Given the description of an element on the screen output the (x, y) to click on. 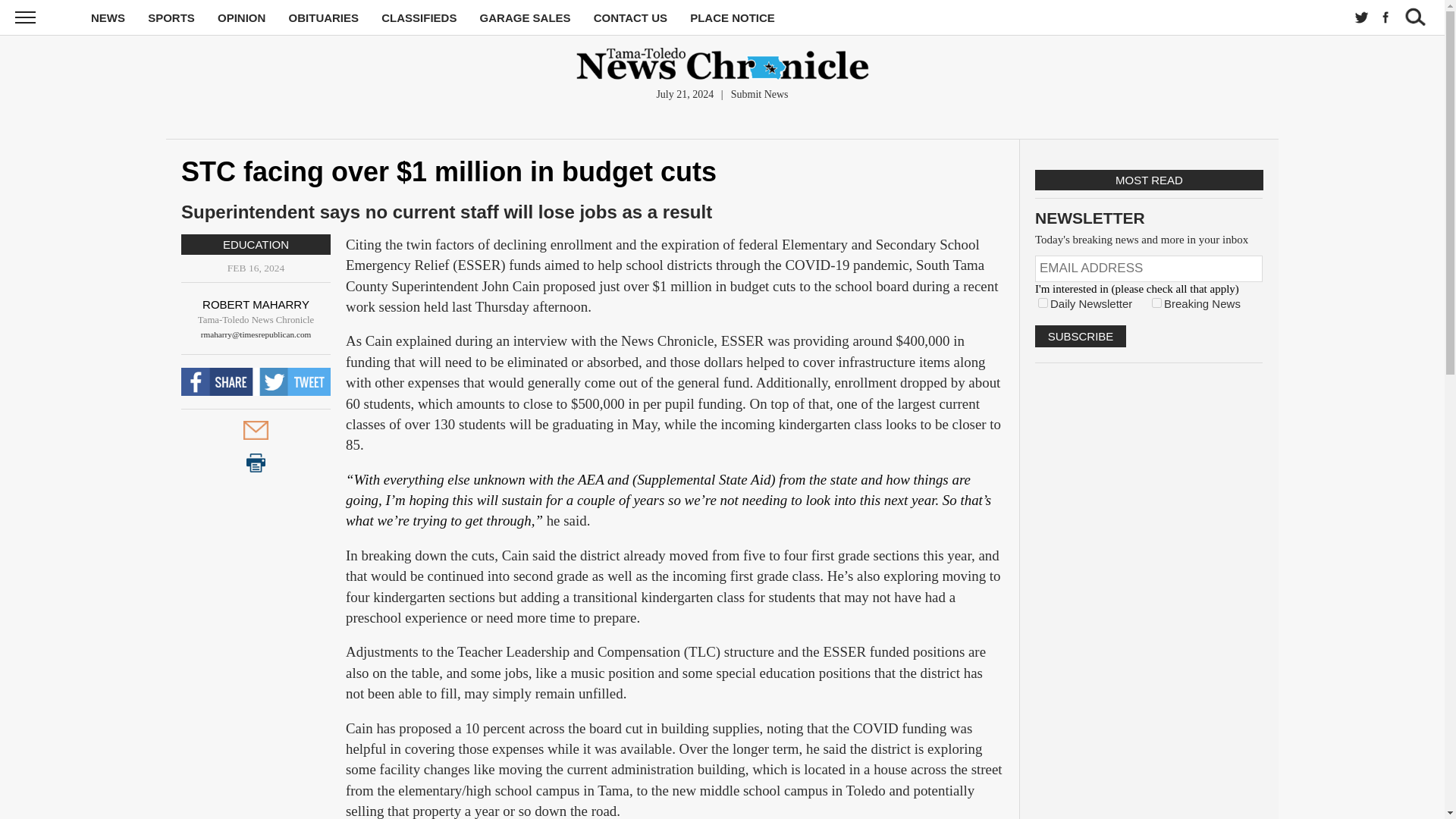
NEWS (107, 17)
SPORTS (171, 17)
CONTACT US (630, 17)
OBITUARIES (323, 17)
CLASSIFIEDS (419, 17)
2 (1156, 302)
PLACE NOTICE (732, 17)
Subscribe (1080, 336)
GARAGE SALES (525, 17)
OPINION (240, 17)
1 (1043, 302)
View all posts in Education (255, 244)
